Given the description of an element on the screen output the (x, y) to click on. 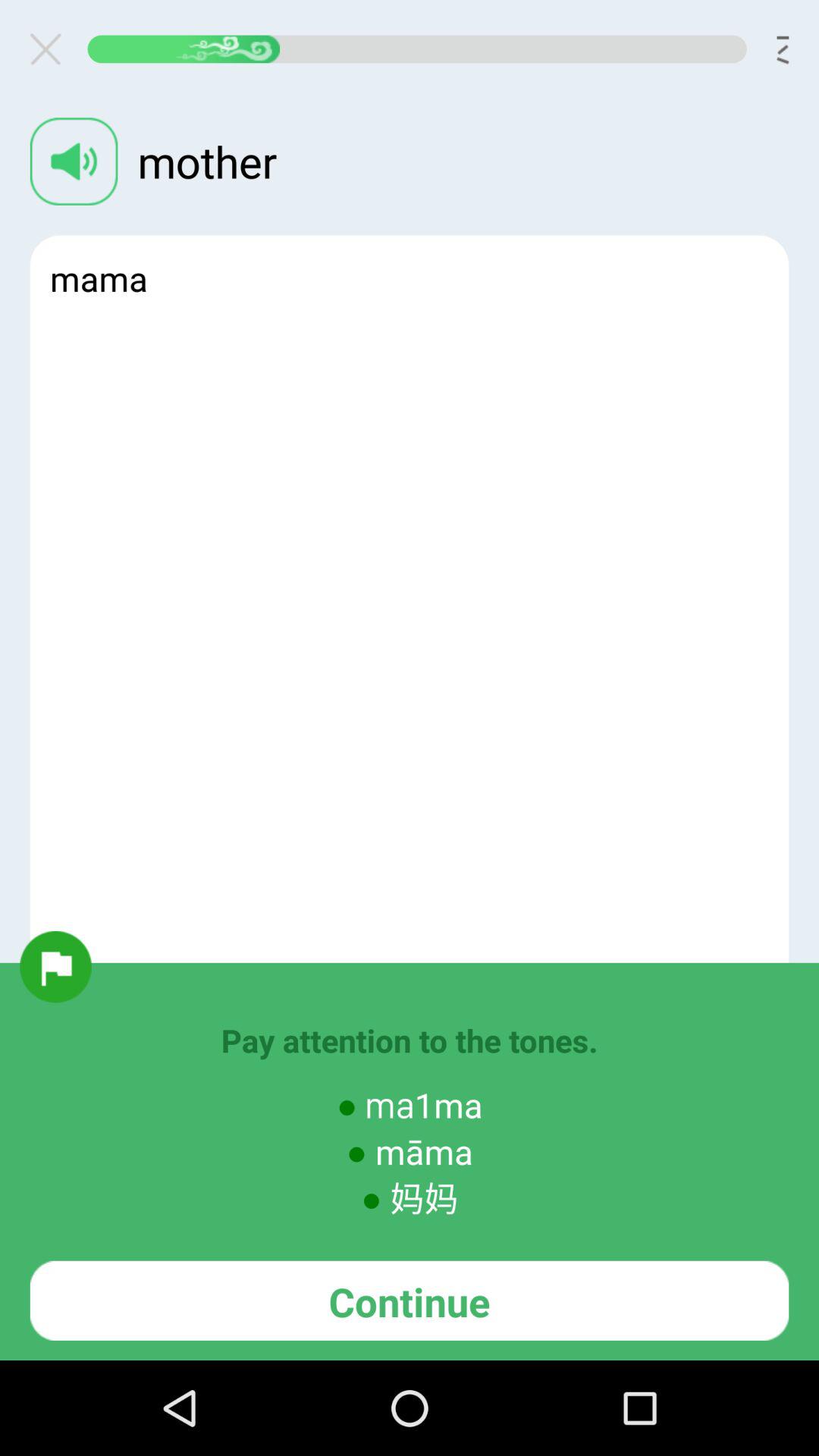
hear the word (73, 161)
